Given the description of an element on the screen output the (x, y) to click on. 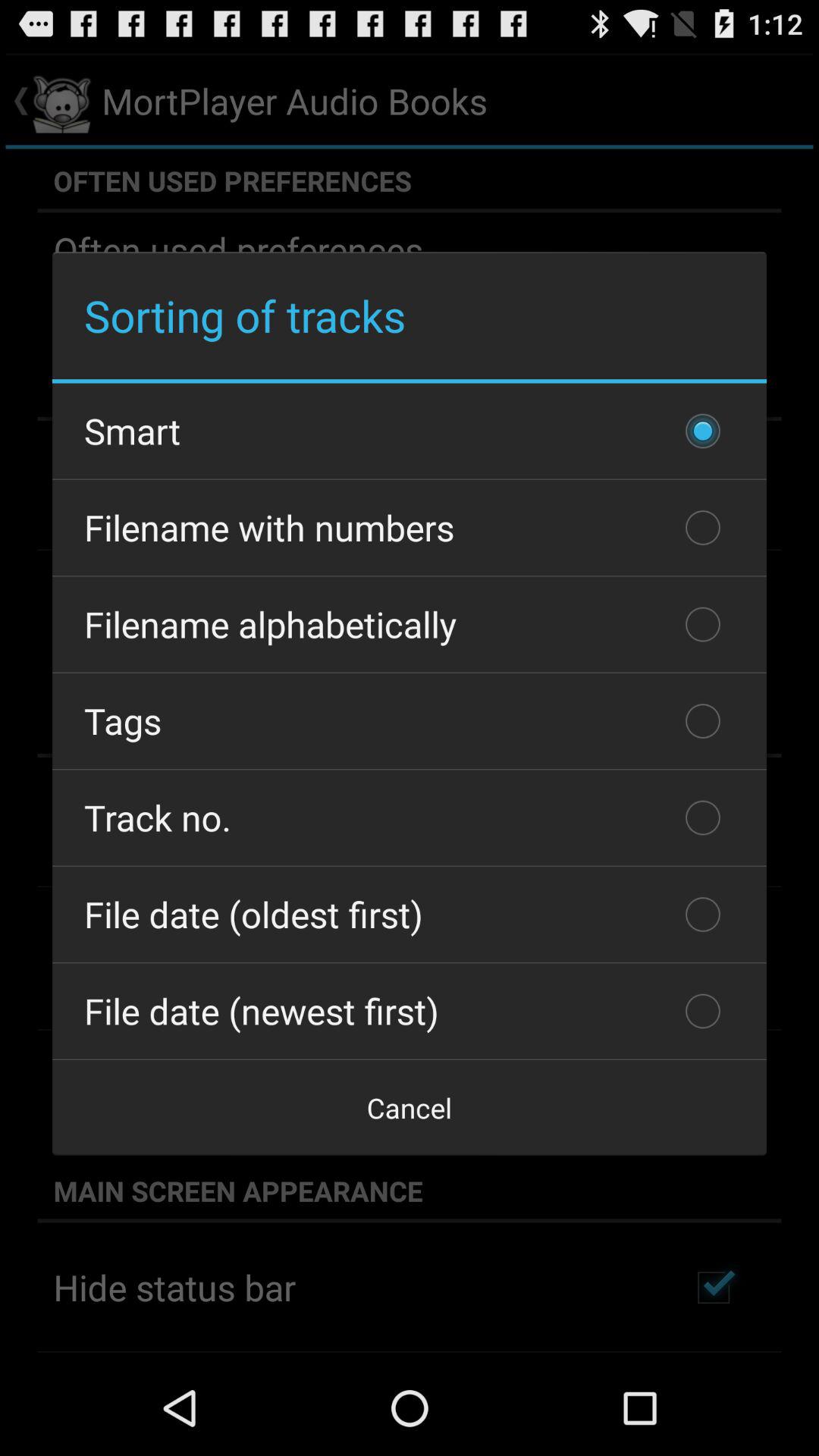
choose checkbox below the file date newest checkbox (409, 1107)
